Given the description of an element on the screen output the (x, y) to click on. 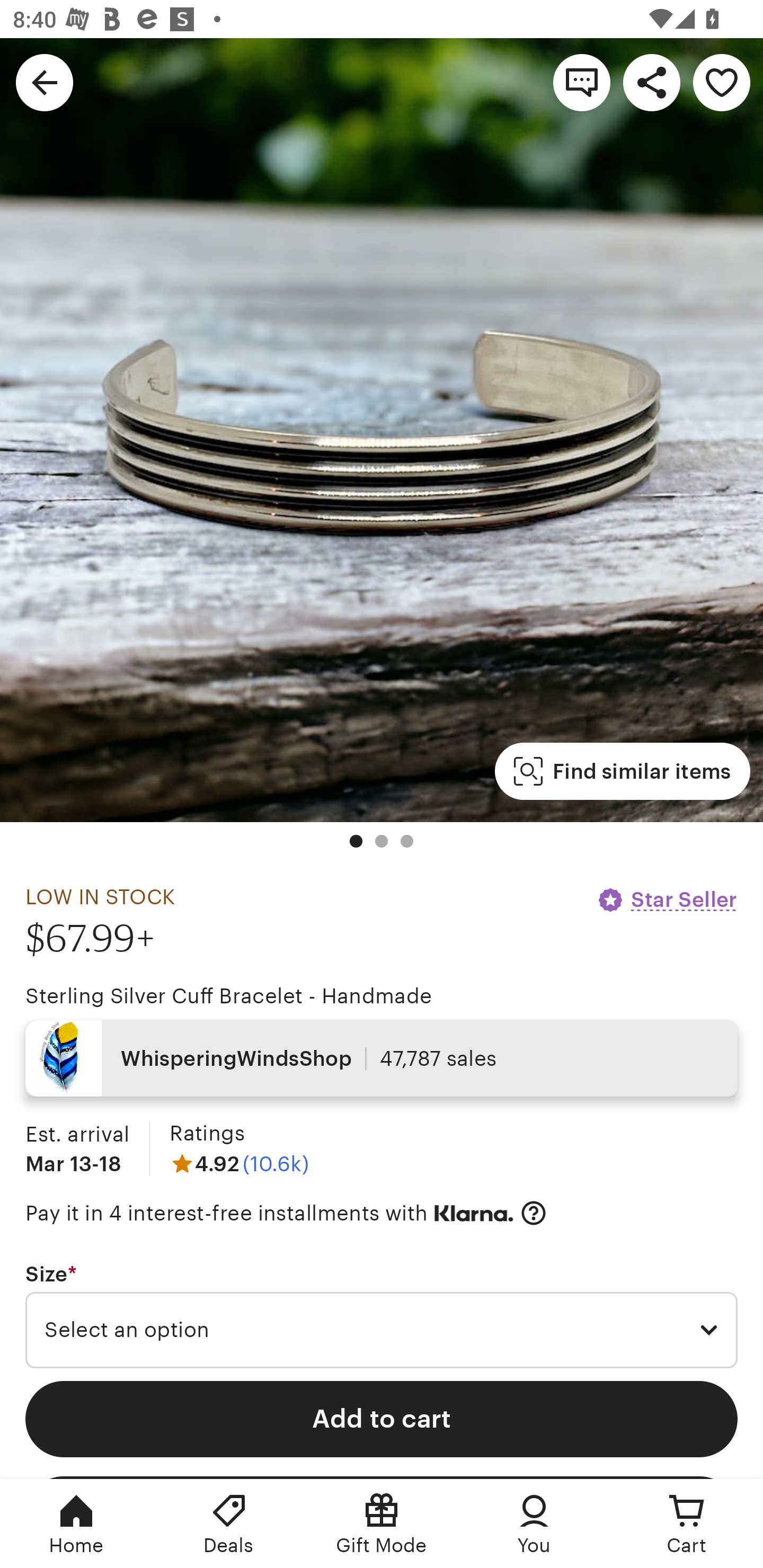
Navigate up (44, 81)
Contact shop (581, 81)
Share (651, 81)
Find similar items (622, 771)
Star Seller (666, 899)
Sterling Silver Cuff Bracelet - Handmade (228, 996)
WhisperingWindsShop 47,787 sales (381, 1058)
Ratings (206, 1133)
4.92 (10.6k) (239, 1163)
Size * Required Select an option (381, 1315)
Select an option (381, 1330)
Add to cart (381, 1418)
Deals (228, 1523)
Gift Mode (381, 1523)
You (533, 1523)
Cart (686, 1523)
